Given the description of an element on the screen output the (x, y) to click on. 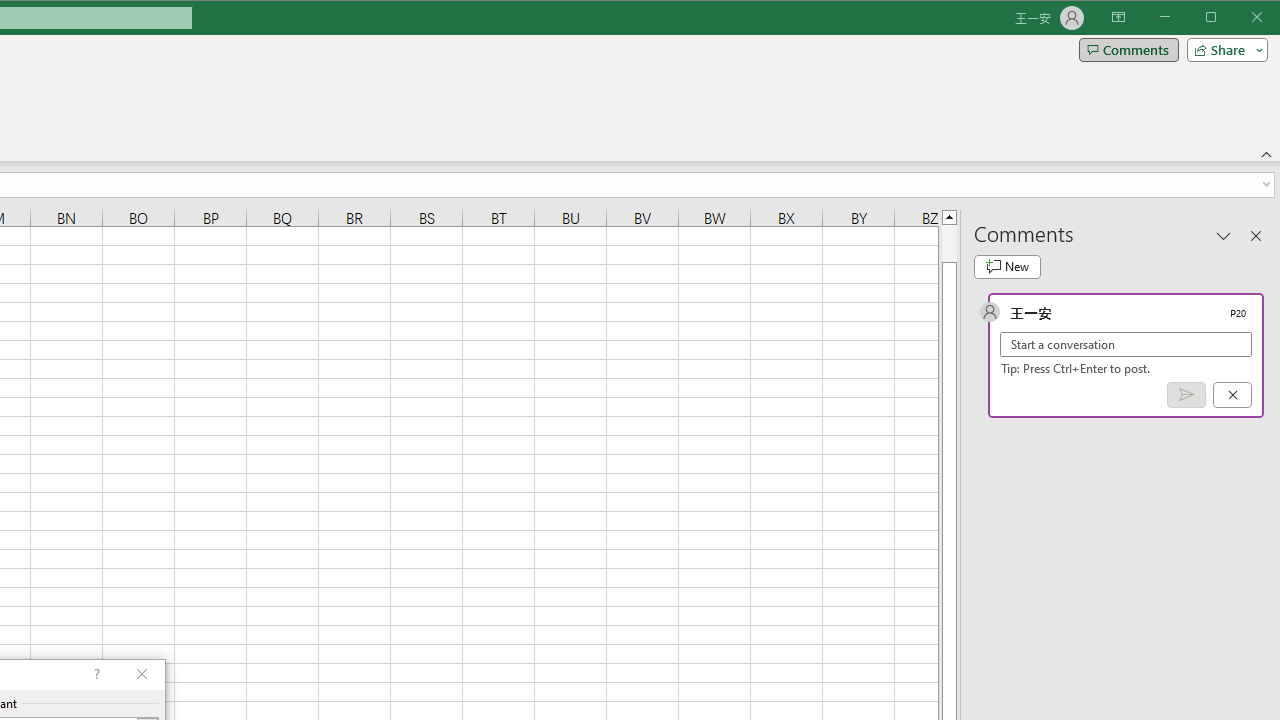
Cancel (1232, 395)
Start a conversation (1126, 344)
Post comment (Ctrl + Enter) (1186, 395)
Page up (948, 243)
New comment (1007, 266)
